Given the description of an element on the screen output the (x, y) to click on. 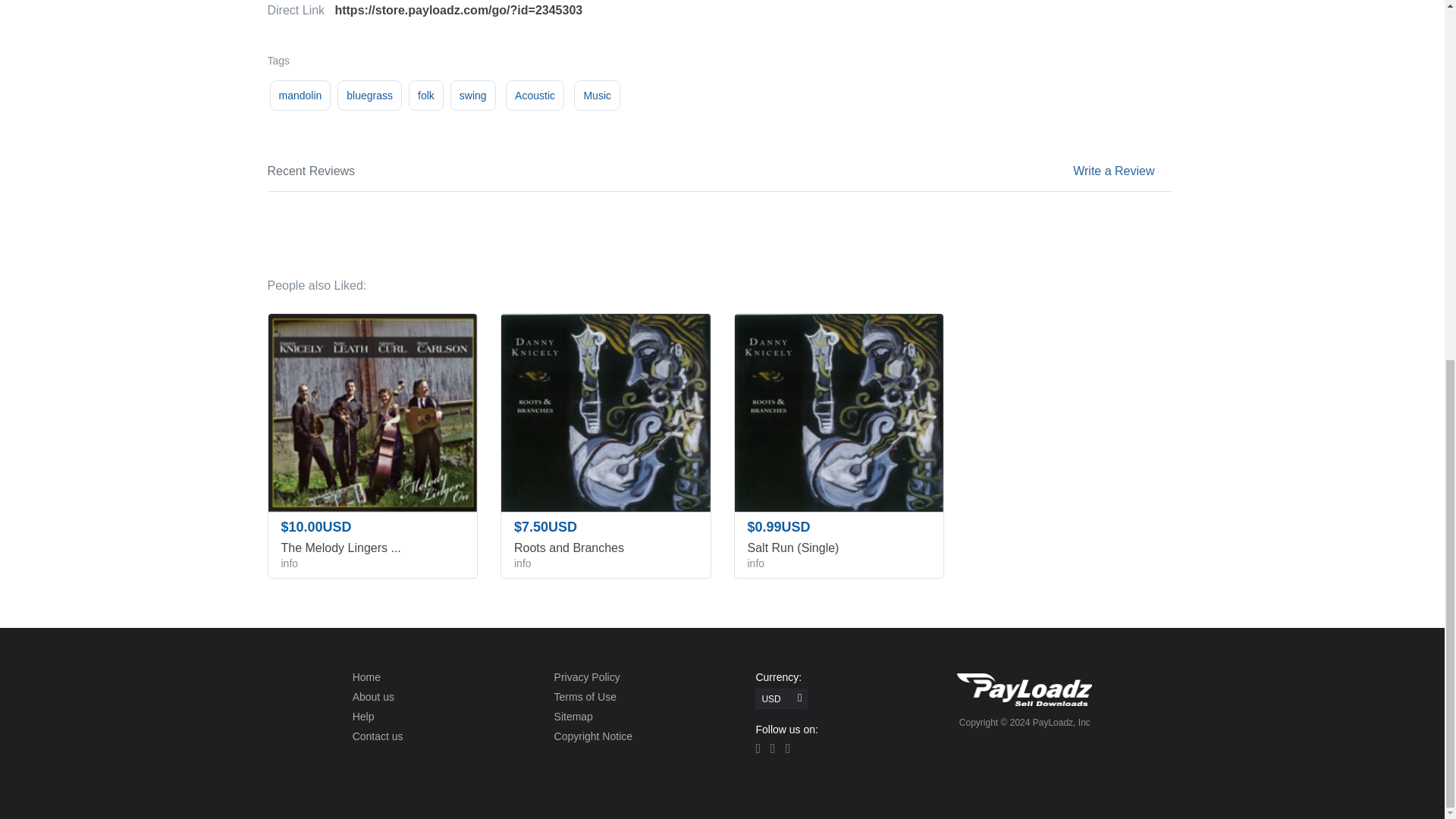
roots and branches (605, 412)
Terms of Use (584, 696)
Home (366, 676)
Contact us (377, 736)
Help (363, 716)
swing (472, 95)
folk (426, 95)
Write a Review (1113, 171)
bluegrass (369, 95)
the melody lingers on (372, 412)
Acoustic (534, 95)
Privacy Policy (587, 676)
The Melody Lingers On (372, 548)
About us (373, 696)
Copyright Notice (593, 736)
